Given the description of an element on the screen output the (x, y) to click on. 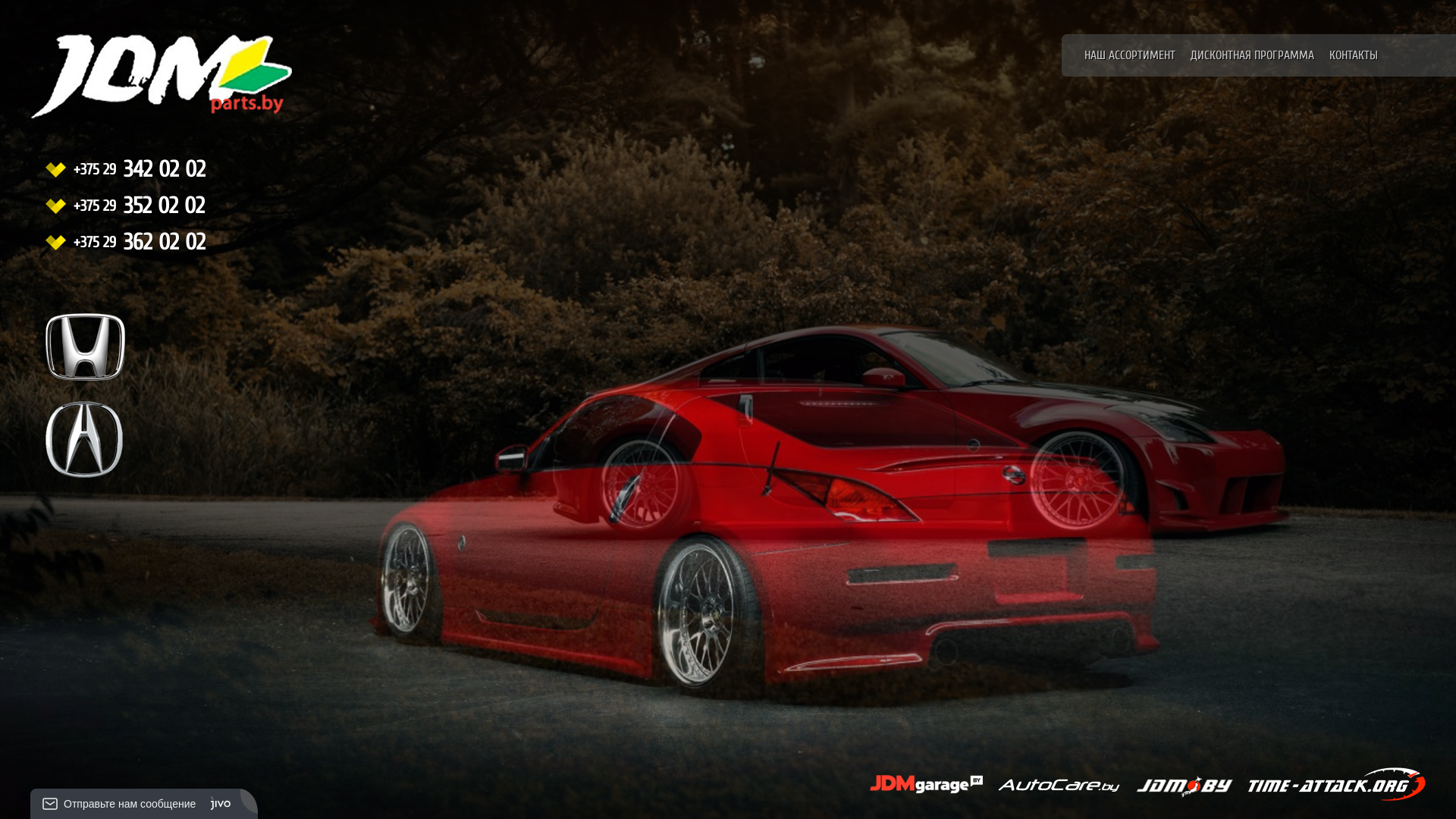
JDMParts.by Element type: hover (132, 92)
